Given the description of an element on the screen output the (x, y) to click on. 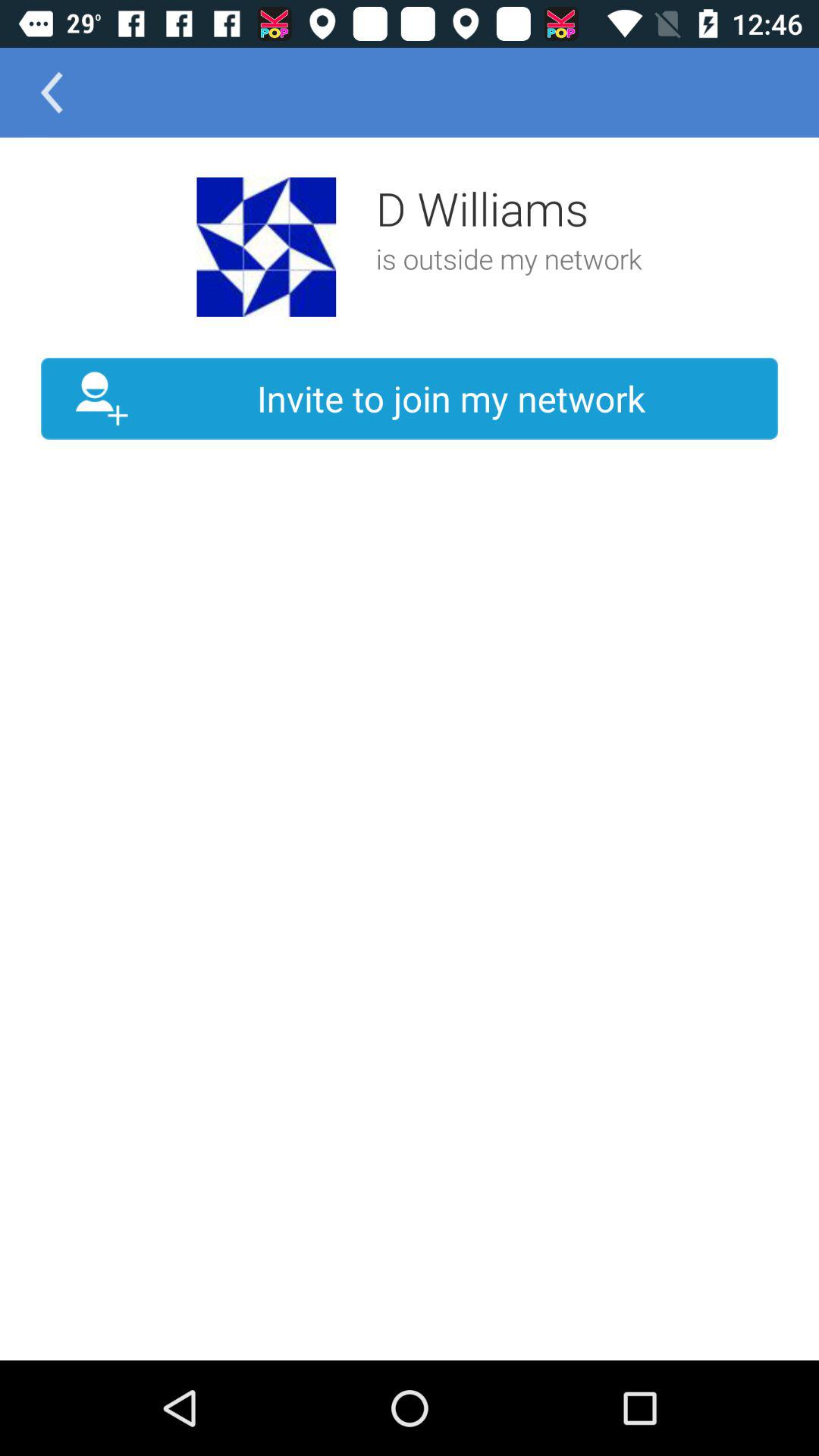
tap the item above the invite to join icon (51, 92)
